Given the description of an element on the screen output the (x, y) to click on. 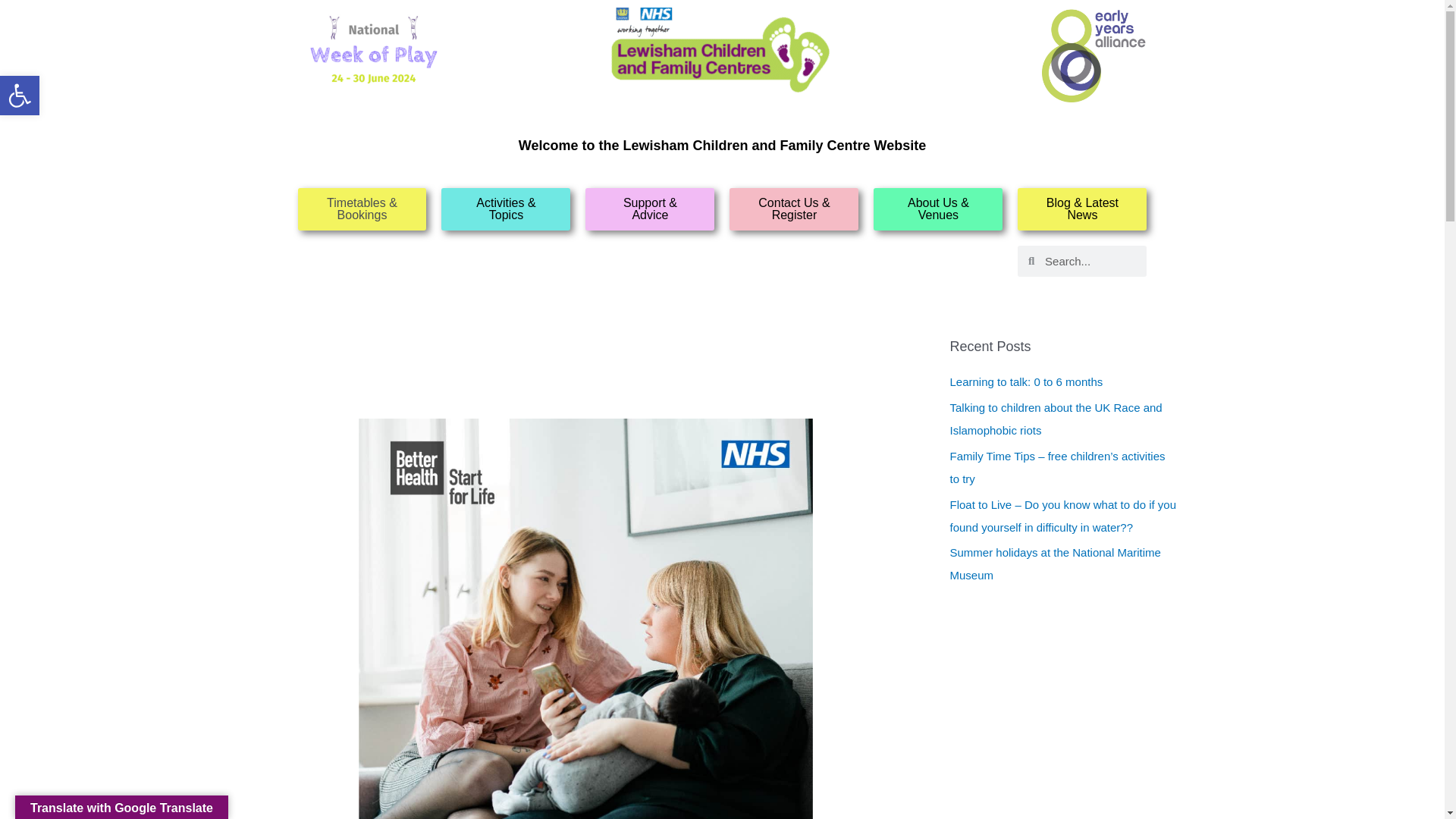
Summer holidays at the National Maritime Museum (1054, 563)
Learning to talk: 0 to 6 months (1025, 381)
Accessibility Tools (19, 95)
Talking to children about the UK Race and Islamophobic riots (1055, 418)
